Given the description of an element on the screen output the (x, y) to click on. 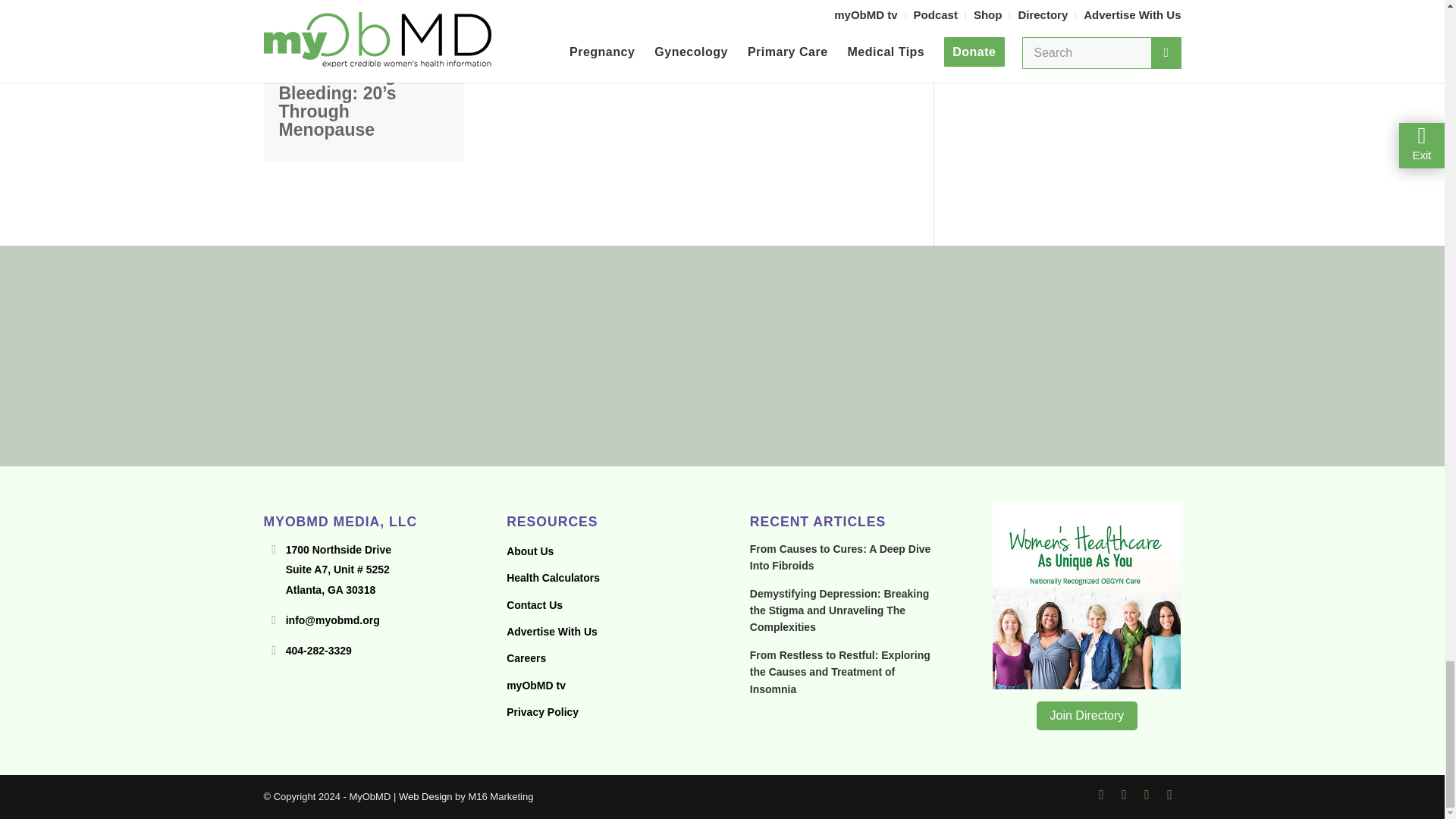
LinkedIn (1169, 793)
Facebook (1124, 793)
Youtube (1101, 793)
Instagram (1146, 793)
